Given the description of an element on the screen output the (x, y) to click on. 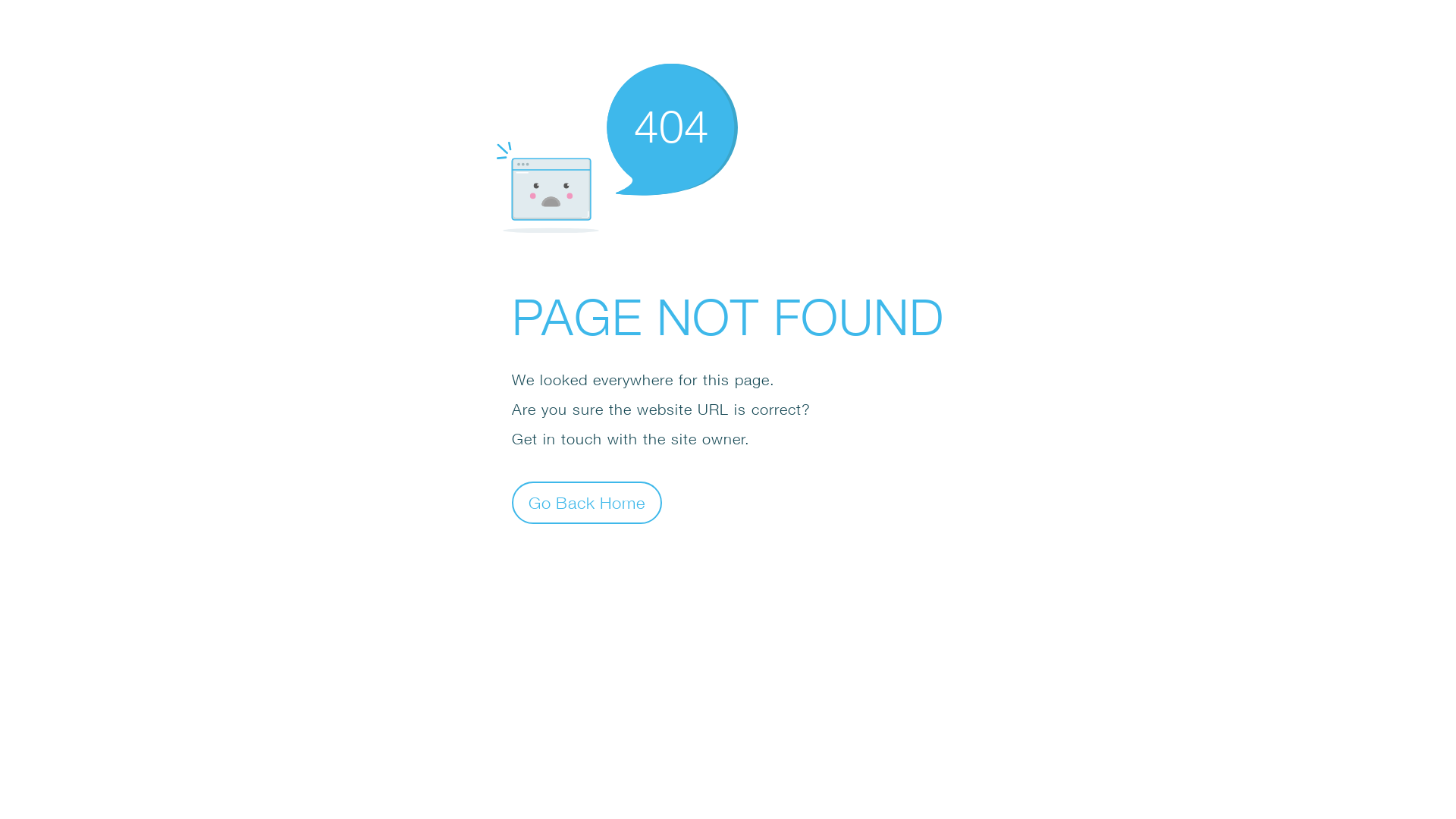
Go Back Home Element type: text (586, 502)
